Given the description of an element on the screen output the (x, y) to click on. 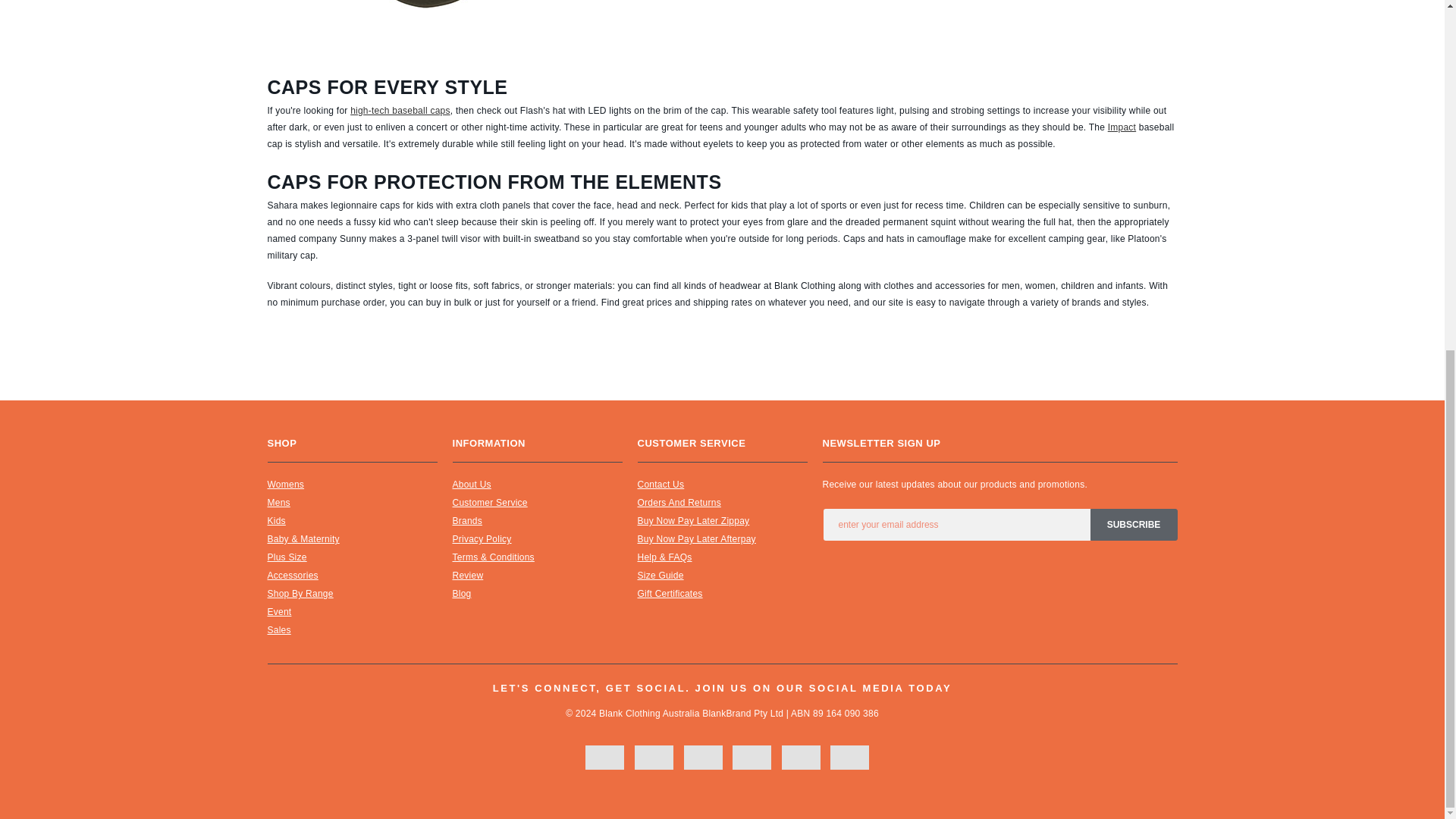
ZipPay (849, 756)
American Express (703, 756)
Master Card (653, 756)
AfterPay (801, 756)
Plain Baseball Cap (1121, 127)
Paypal (751, 756)
Yakka Oilskin Baseball Cap (418, 28)
Subscribe (1133, 524)
High-Tech Baseball Caps (399, 110)
Visa (604, 756)
